Given the description of an element on the screen output the (x, y) to click on. 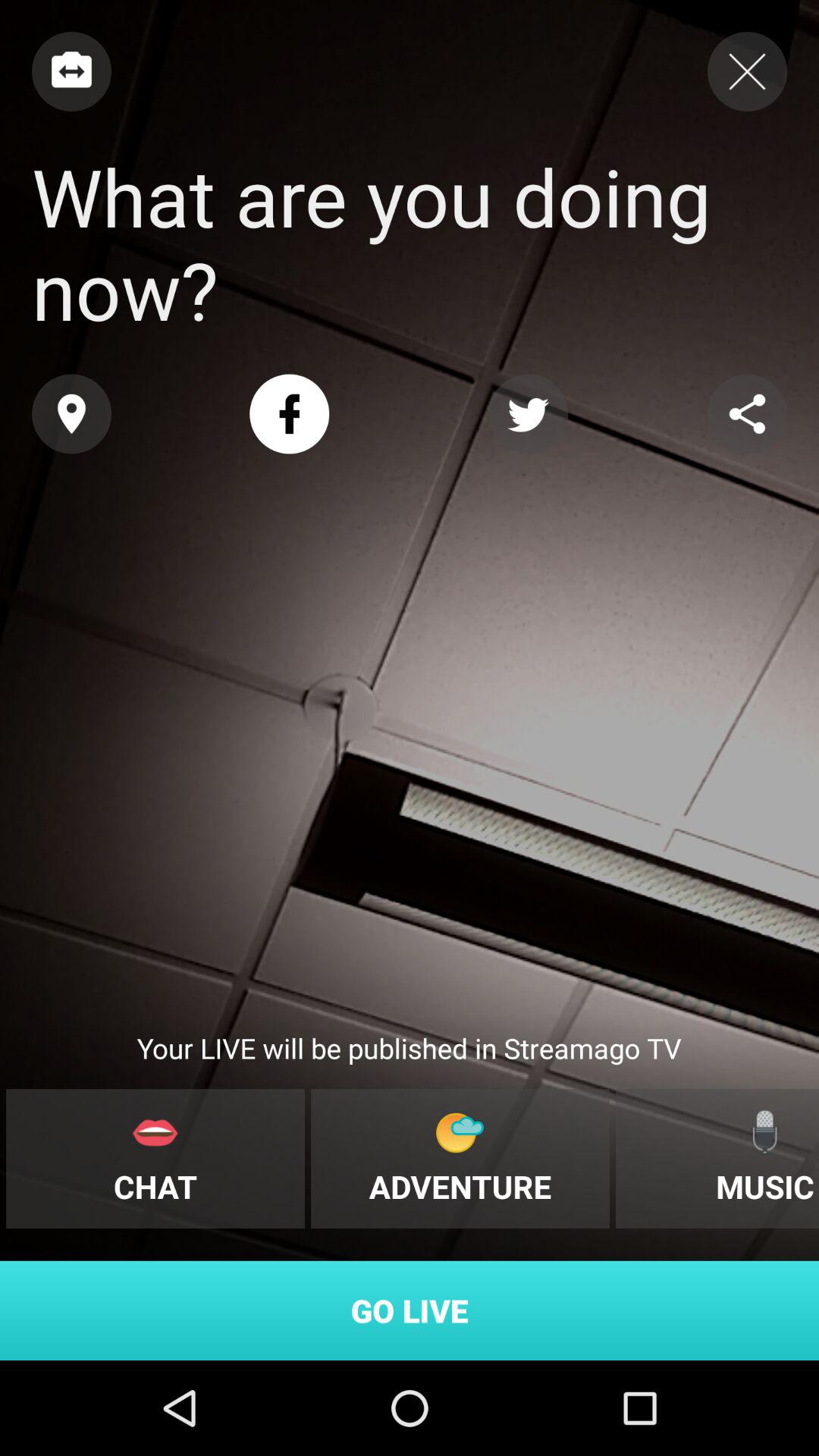
share your location (71, 413)
